Given the description of an element on the screen output the (x, y) to click on. 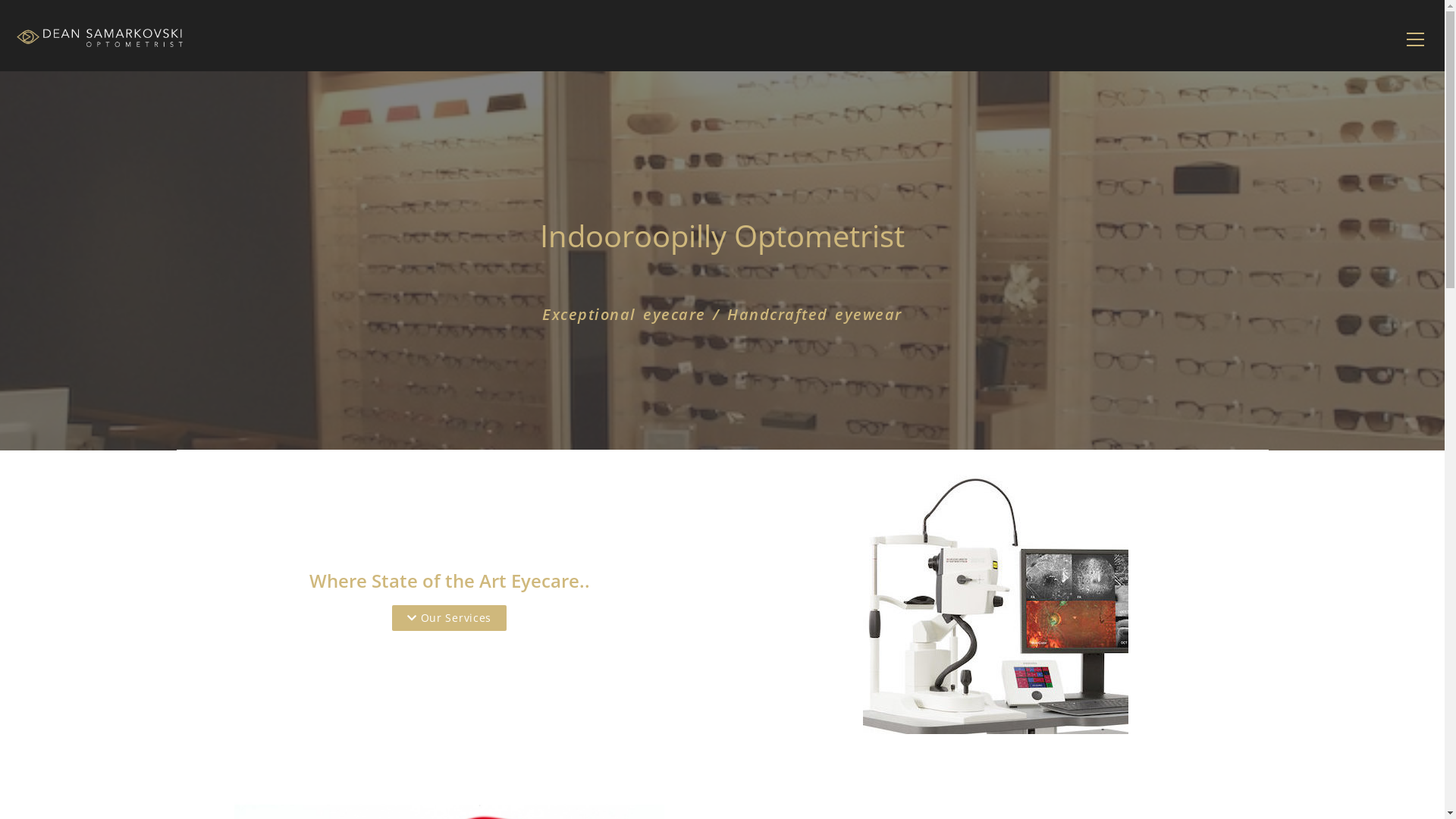
Our Services Element type: text (449, 617)
